Given the description of an element on the screen output the (x, y) to click on. 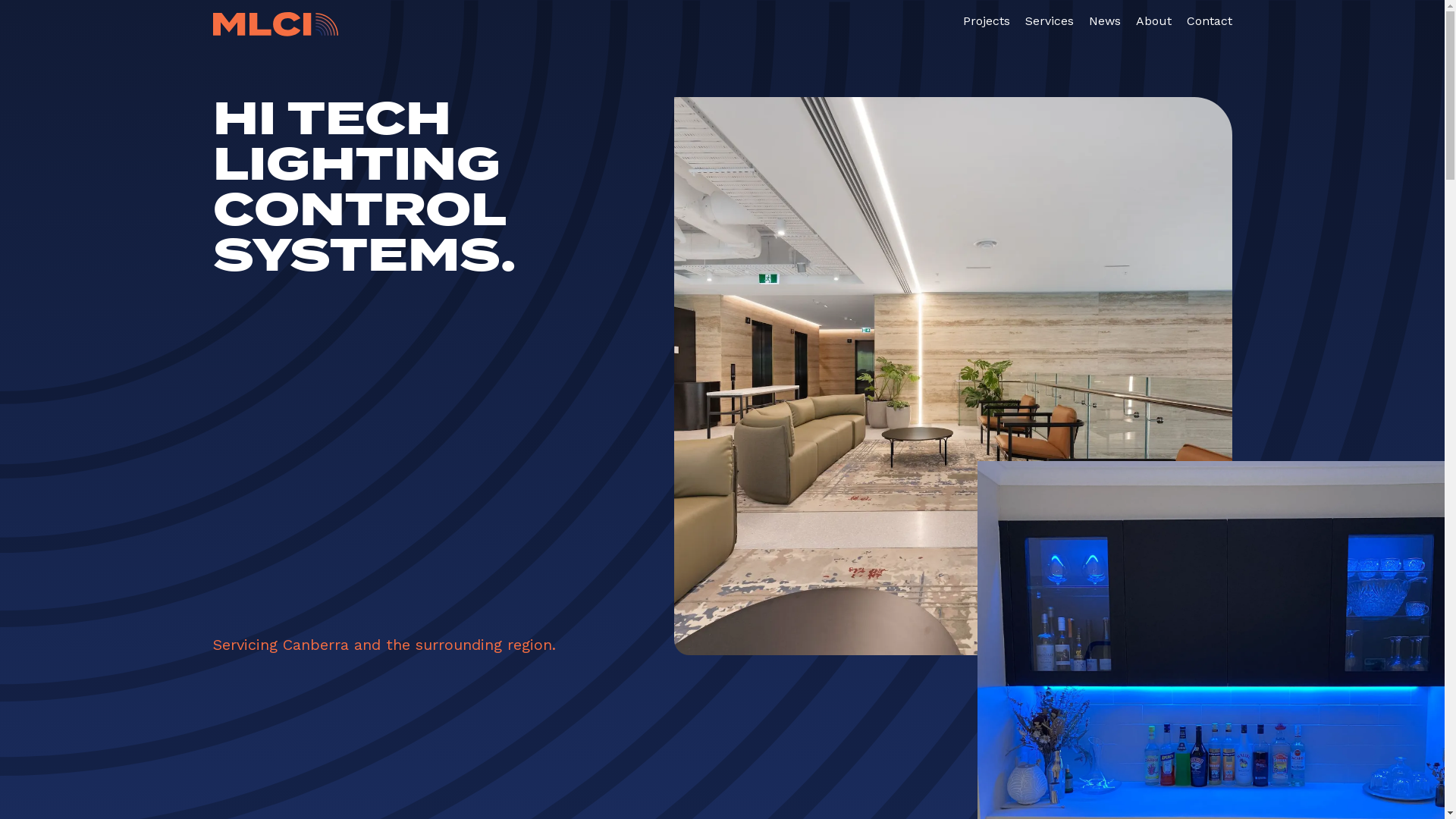
About Element type: text (1153, 21)
Contact Element type: text (1208, 21)
News Element type: text (1104, 21)
Services Element type: text (1049, 21)
Projects Element type: text (986, 21)
